Given the description of an element on the screen output the (x, y) to click on. 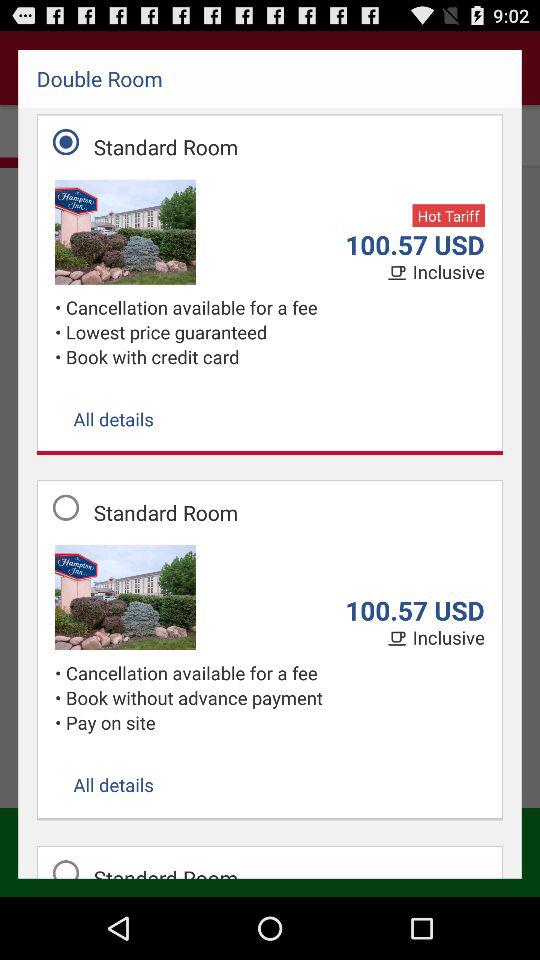
launch the hot tariff icon (448, 215)
